Given the description of an element on the screen output the (x, y) to click on. 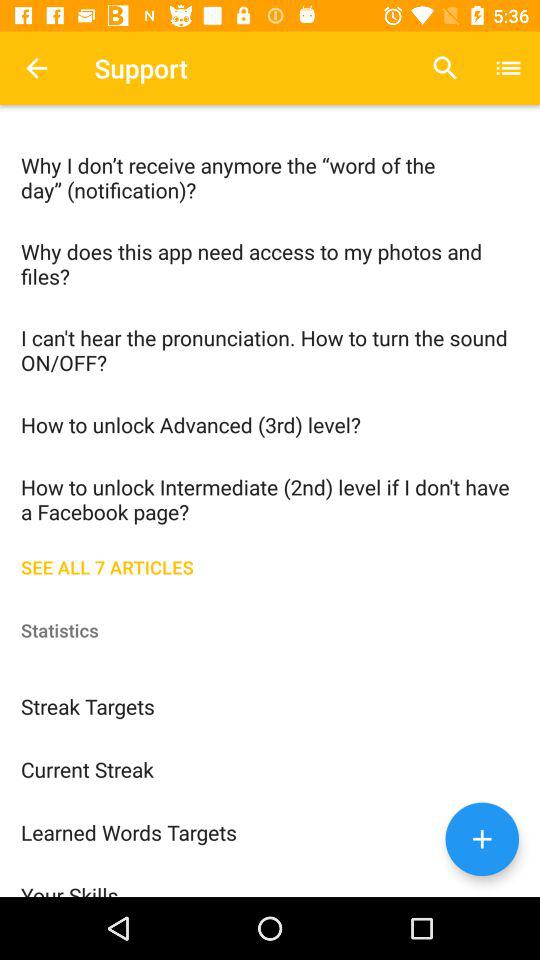
turn off item below streak targets (270, 768)
